Given the description of an element on the screen output the (x, y) to click on. 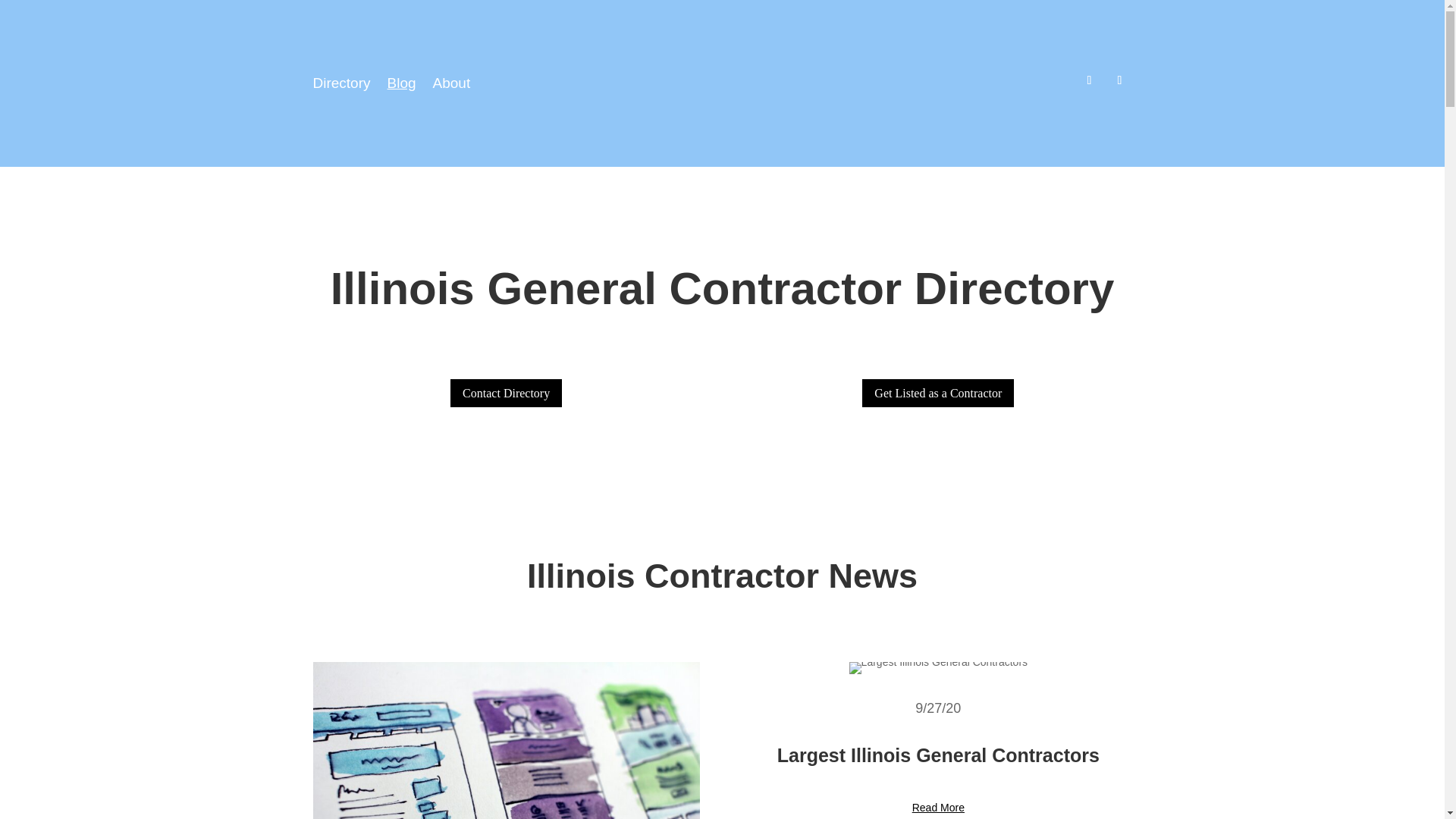
Largest Illinois General Contractors (937, 667)
About (451, 86)
Read More (937, 807)
Largest Illinois General Contractors (938, 754)
Get Listed as a Contractor (937, 393)
Contact Directory (505, 393)
Follow on Facebook (1118, 79)
Follow on Youtube (1088, 79)
Blog (401, 86)
Digital Advertising for Contractors (505, 740)
